Given the description of an element on the screen output the (x, y) to click on. 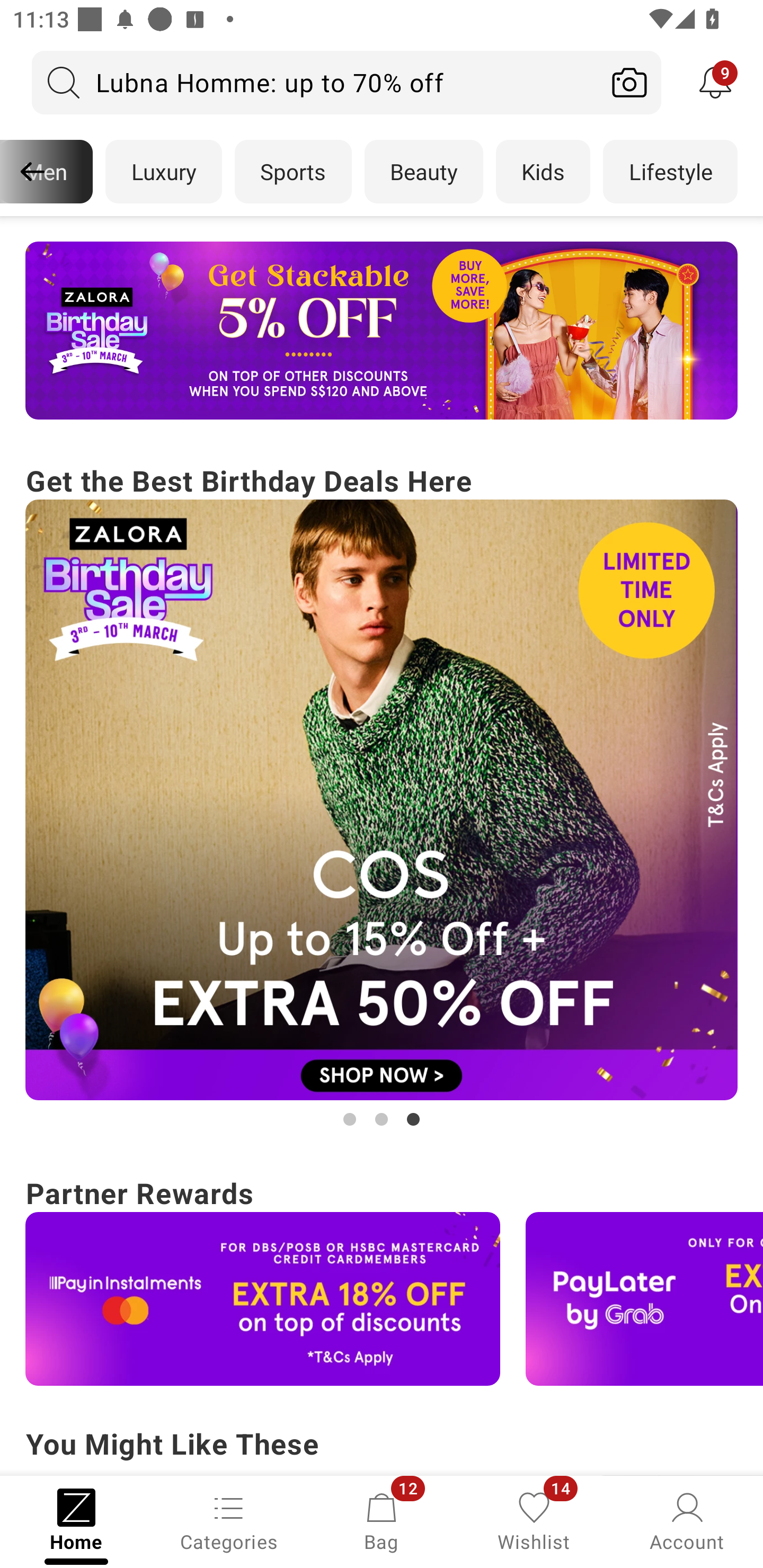
Lubna Homme: up to 70% off (314, 82)
Luxury (163, 171)
Sports (293, 171)
Beauty (423, 171)
Kids (542, 171)
Lifestyle (669, 171)
Campaign banner (381, 330)
Get the Best Birthday Deals Here Campaign banner (381, 794)
Campaign banner (381, 800)
Partner Rewards Campaign banner Campaign banner (381, 1277)
Campaign banner (262, 1299)
Categories (228, 1519)
Bag, 12 new notifications Bag (381, 1519)
Wishlist, 14 new notifications Wishlist (533, 1519)
Account (686, 1519)
